Given the description of an element on the screen output the (x, y) to click on. 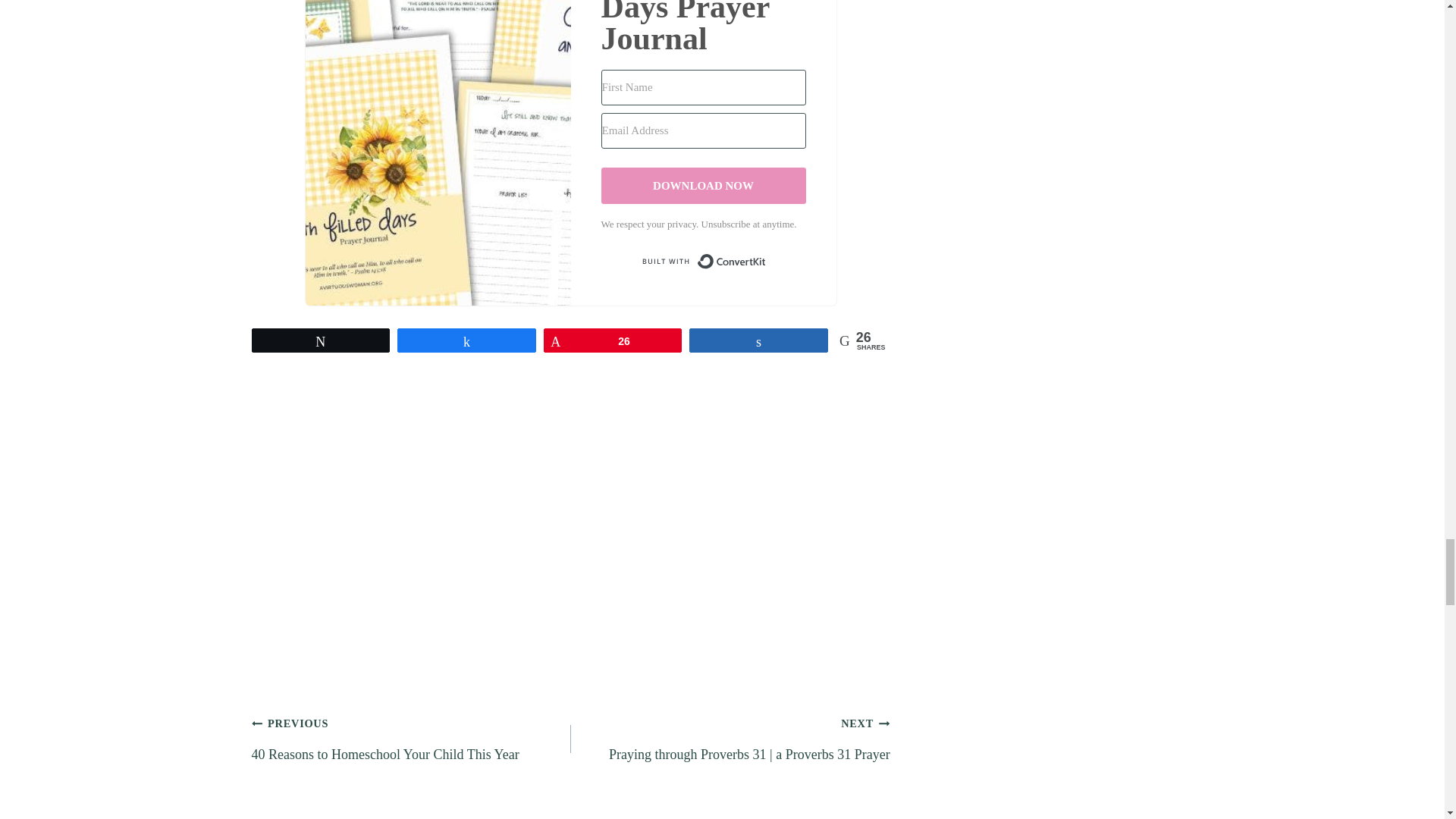
DOWNLOAD NOW (703, 185)
Built with ConvertKit (703, 261)
26 (410, 738)
